Given the description of an element on the screen output the (x, y) to click on. 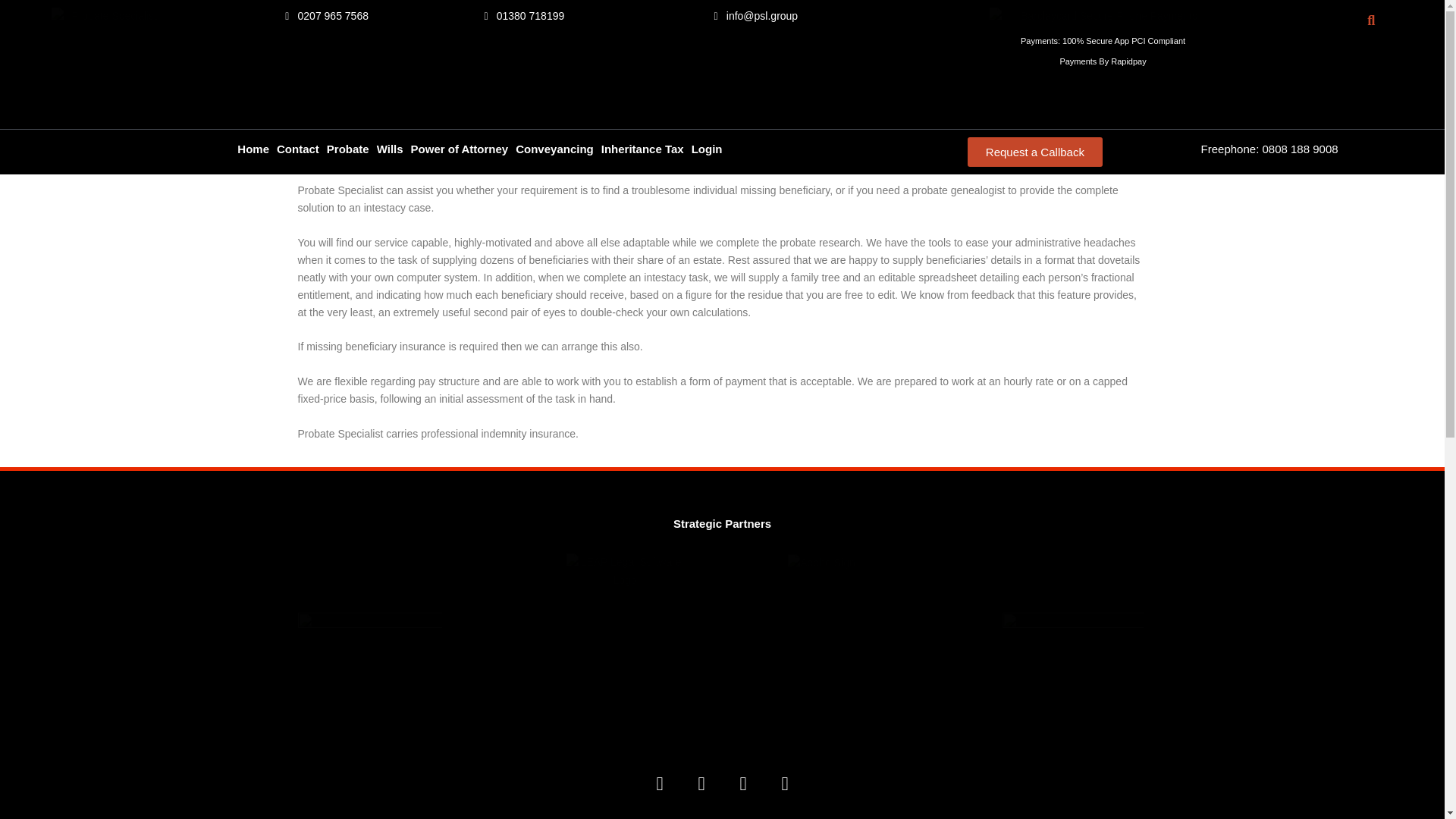
0207 965 7568 (324, 16)
Adobe Sign (820, 562)
Contact (298, 149)
Probate (347, 149)
Home (252, 149)
LEAP Legal Software (624, 570)
01380 718199 (520, 16)
Payments By Rapidpay (1101, 61)
